Given the description of an element on the screen output the (x, y) to click on. 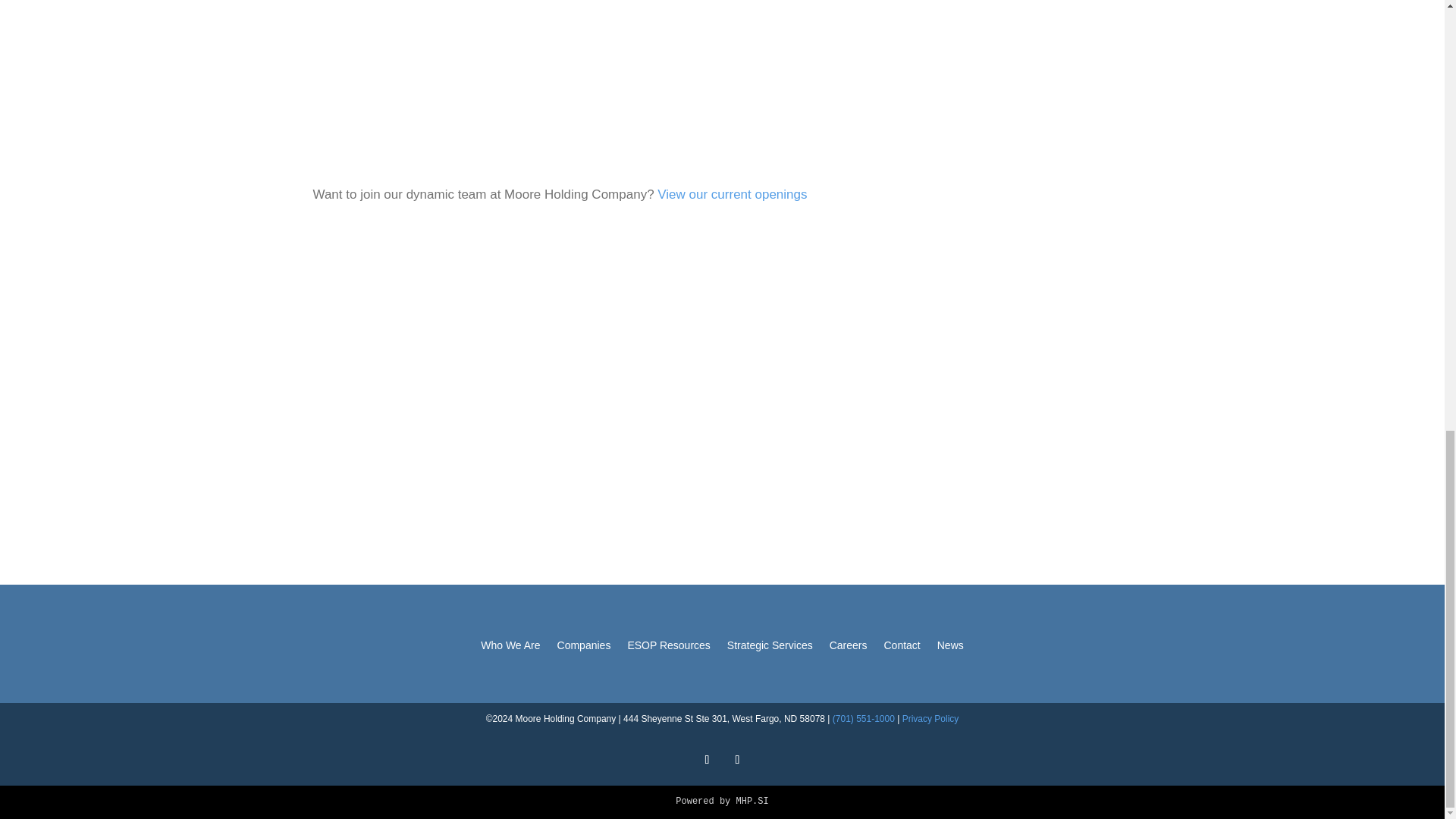
Follow on LinkedIn (737, 759)
Follow on Facebook (706, 759)
